Given the description of an element on the screen output the (x, y) to click on. 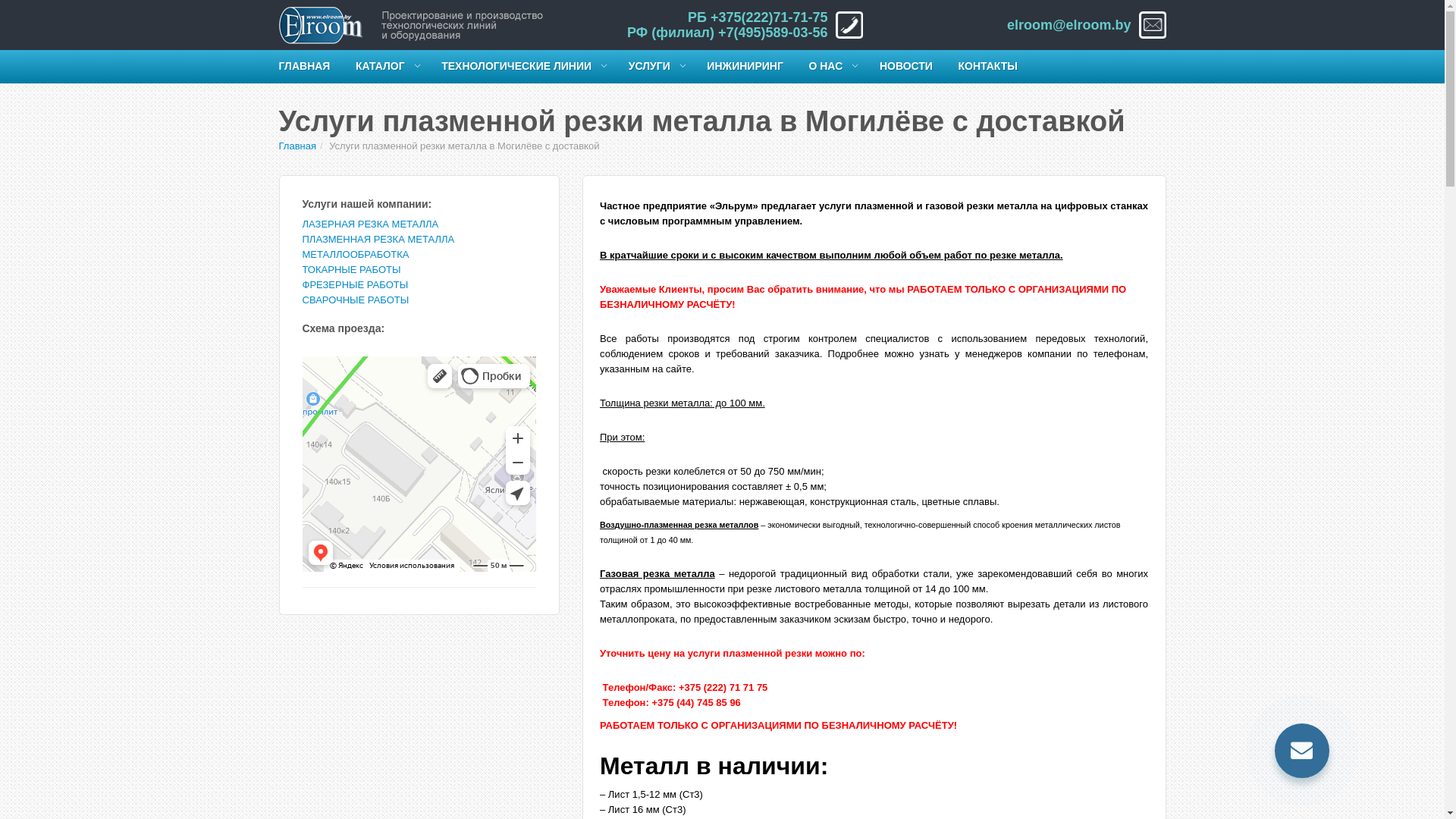
elroom@elroom.by Element type: text (1069, 24)
